Given the description of an element on the screen output the (x, y) to click on. 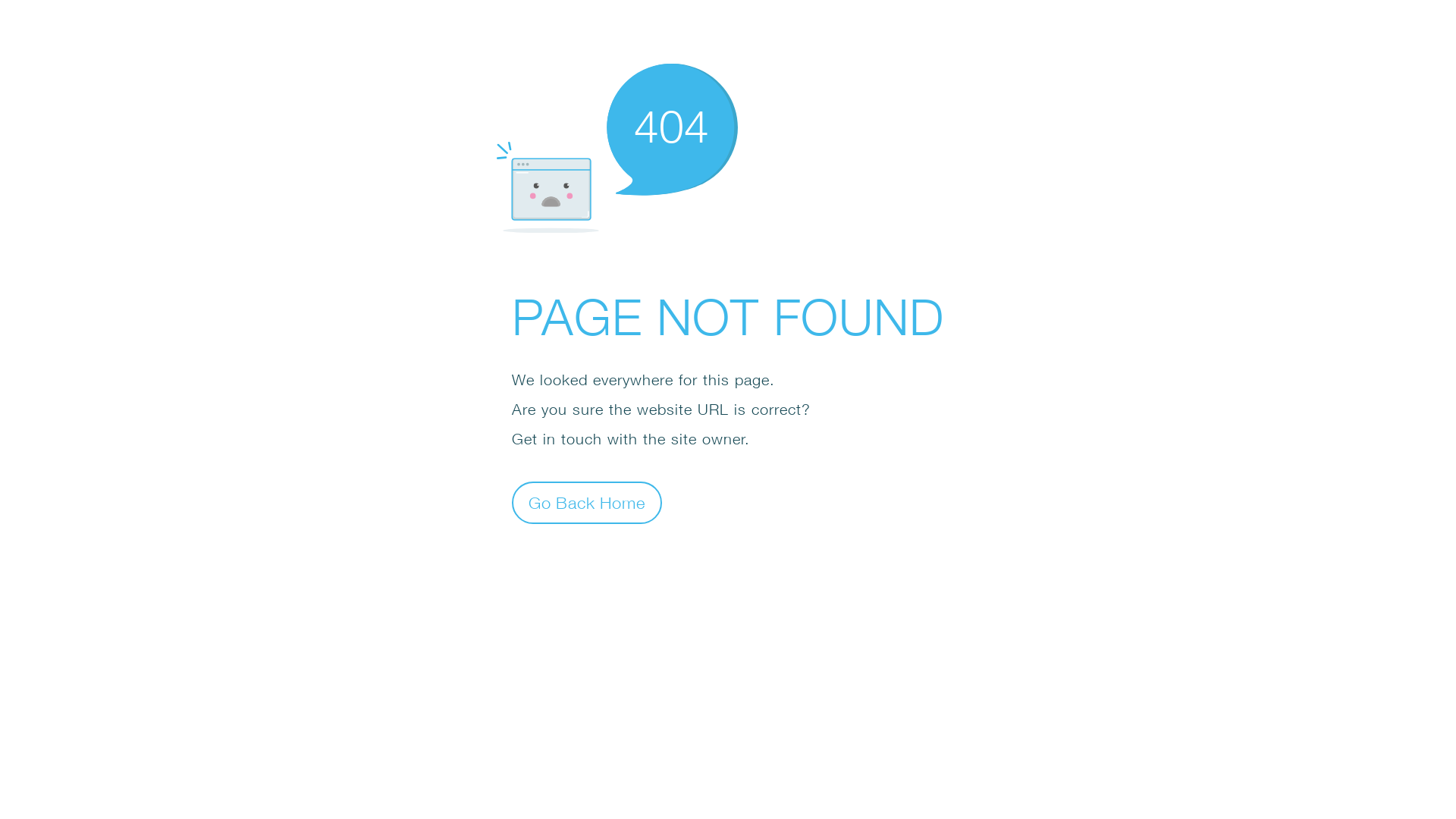
Go Back Home Element type: text (586, 502)
